Given the description of an element on the screen output the (x, y) to click on. 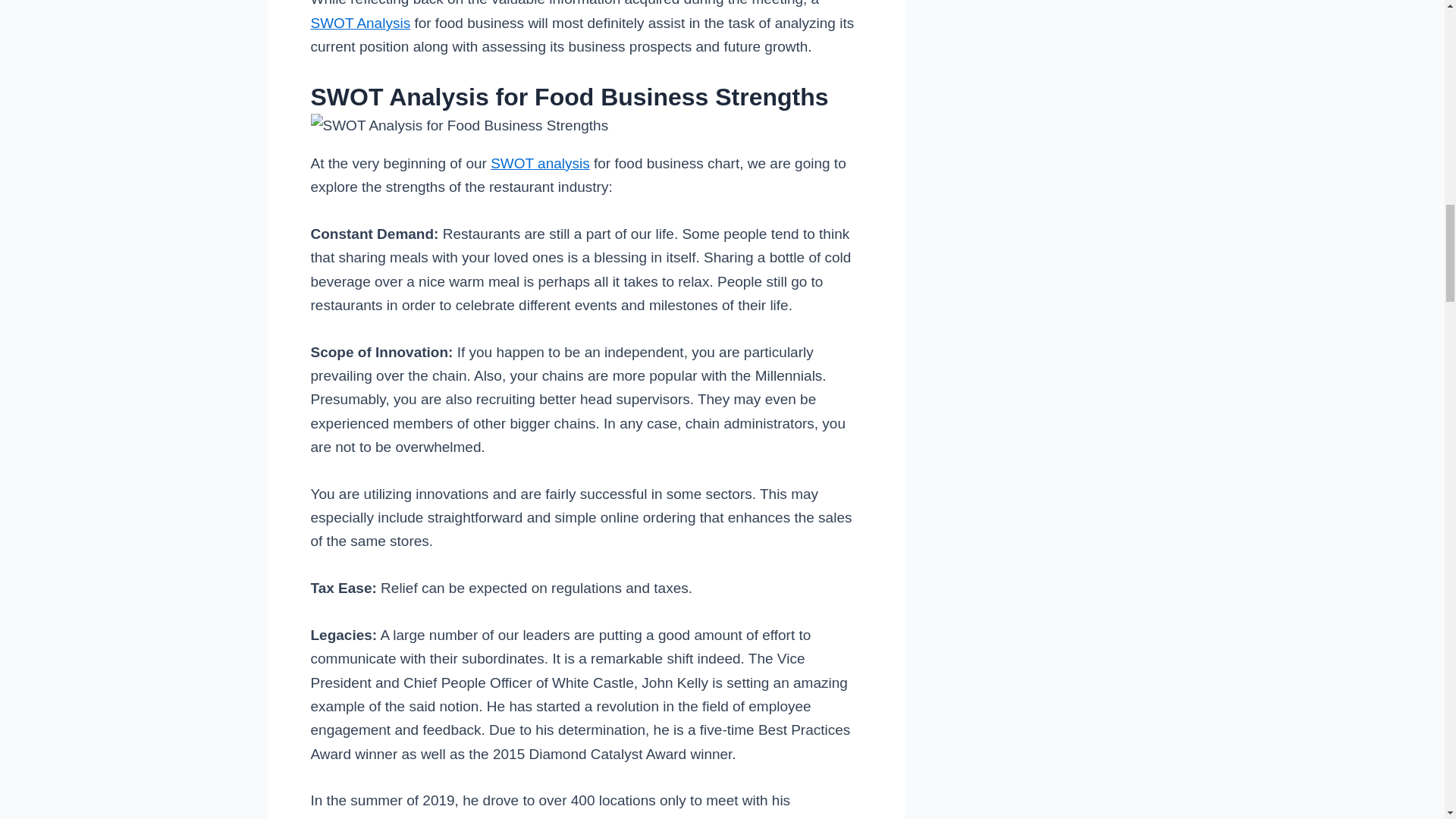
SWOT Analysis for Food Business Strengths (459, 125)
